Given the description of an element on the screen output the (x, y) to click on. 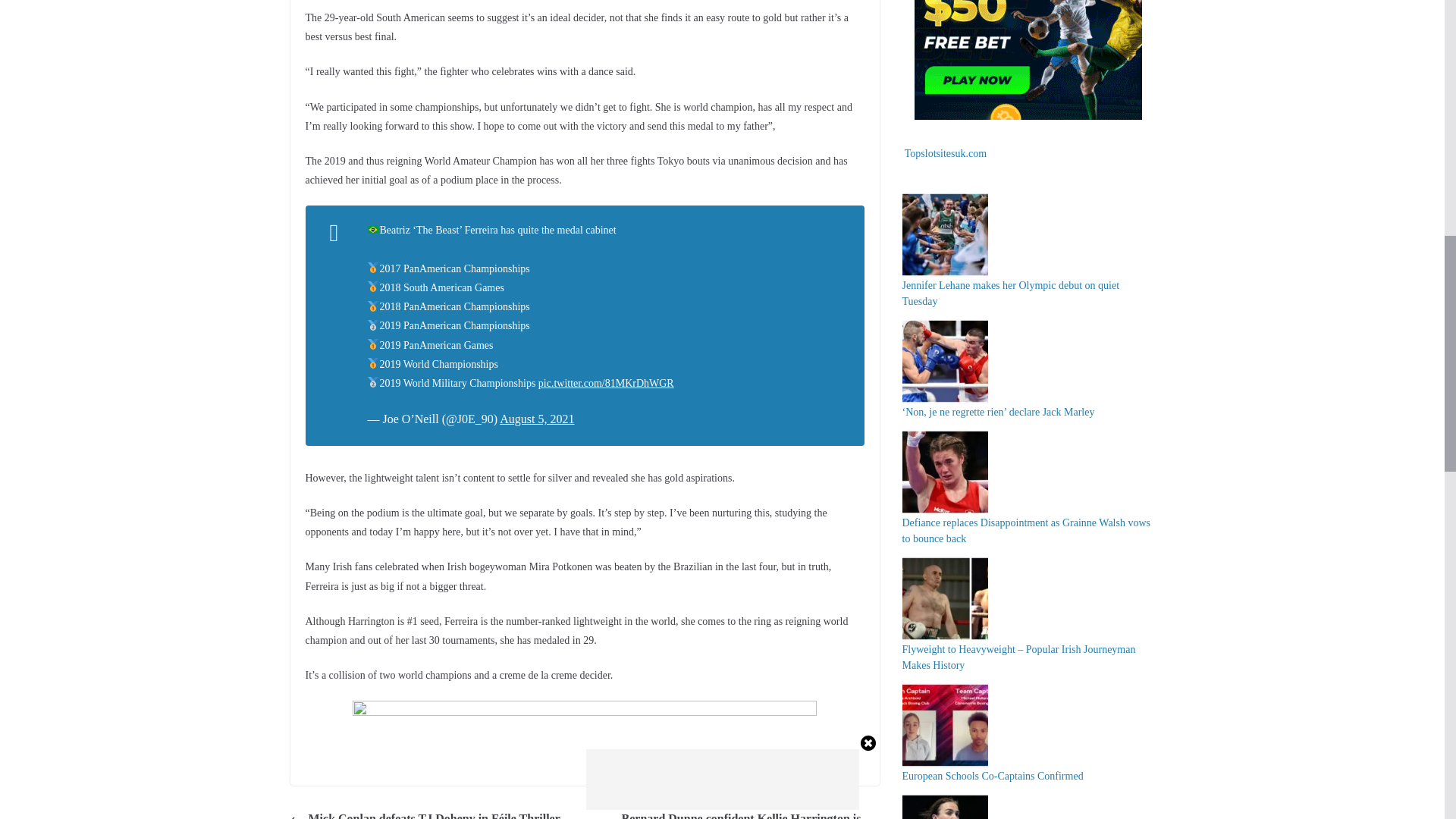
August 5, 2021 (536, 418)
